Given the description of an element on the screen output the (x, y) to click on. 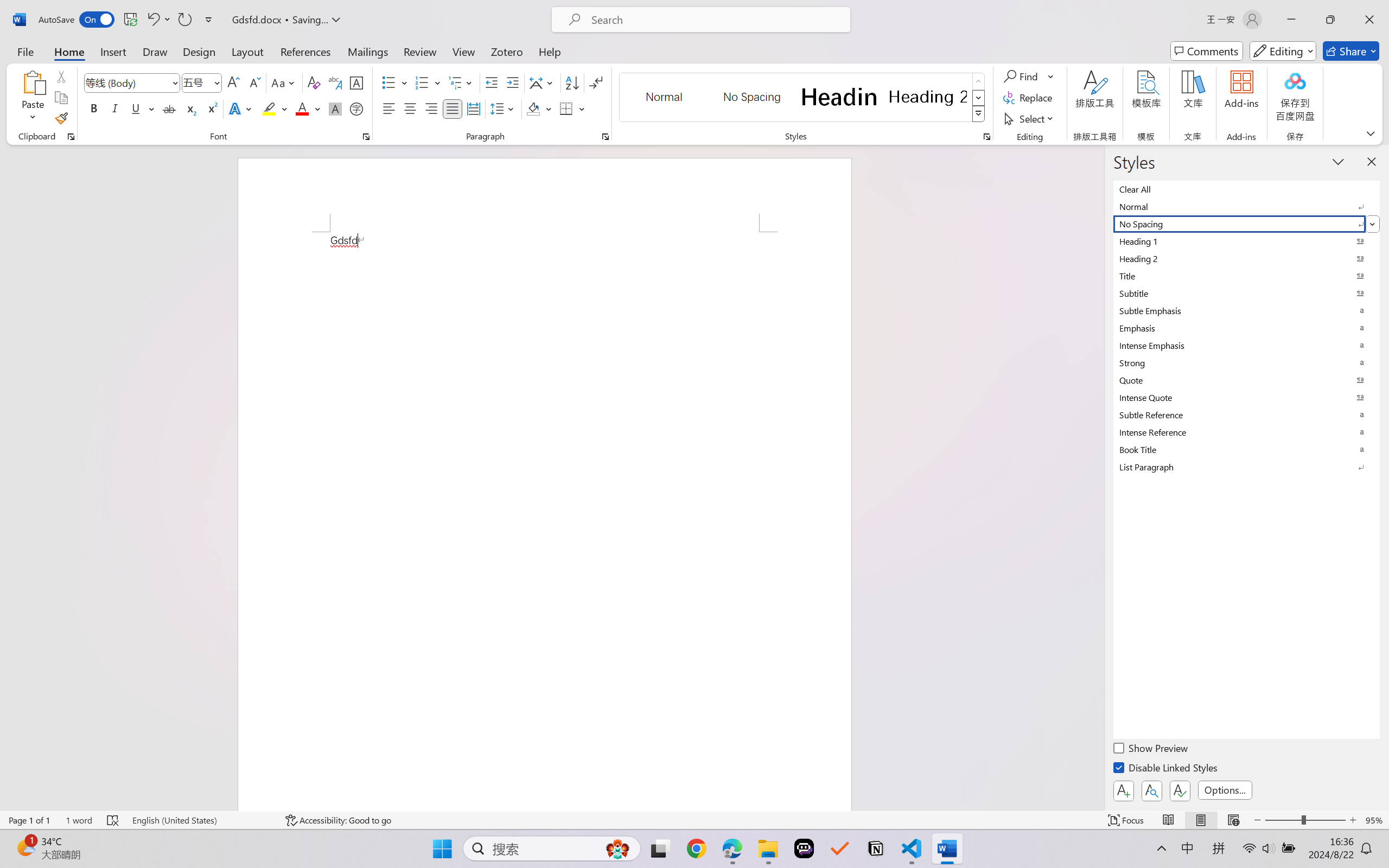
Cut (60, 75)
Text Effects and Typography (241, 108)
Increase Indent (512, 82)
Normal (1246, 206)
Class: NetUIScrollBar (1097, 477)
Align Right (431, 108)
Sort... (571, 82)
Text Highlight Color (274, 108)
